Given the description of an element on the screen output the (x, y) to click on. 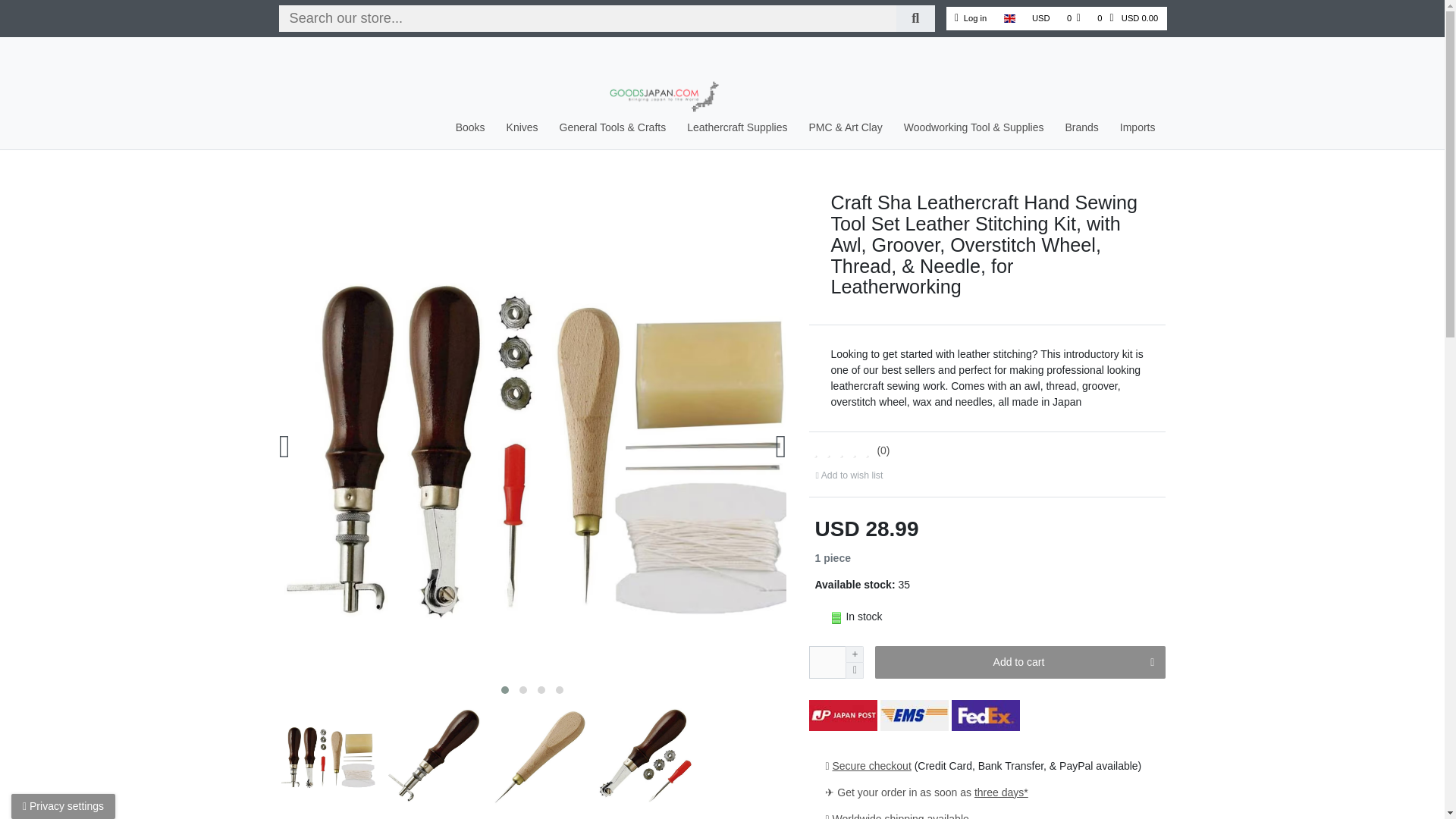
0 USD 0.00 (1127, 18)
Log in (970, 18)
USD (1040, 18)
0 (1073, 18)
